Given the description of an element on the screen output the (x, y) to click on. 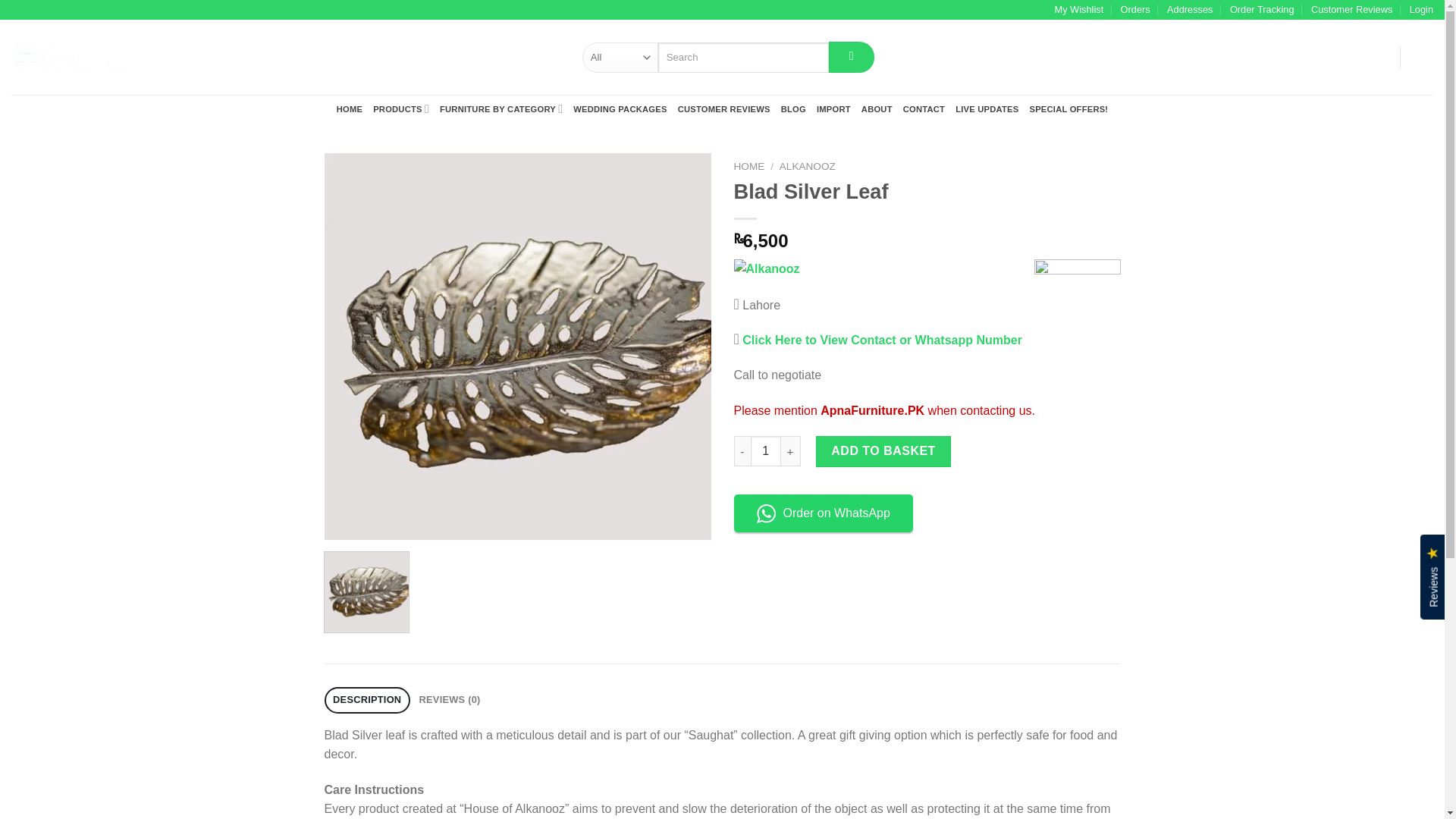
Login (1420, 9)
HOME (349, 108)
ApnaFurniture - Buy Furniture Online in Pakistan (68, 57)
Orders (1135, 9)
Customer Reviews (1351, 9)
Search (851, 56)
My Wishlist (1078, 9)
Addresses (1189, 9)
PRODUCTS (400, 108)
1 (765, 450)
Order Tracking (1262, 9)
